Given the description of an element on the screen output the (x, y) to click on. 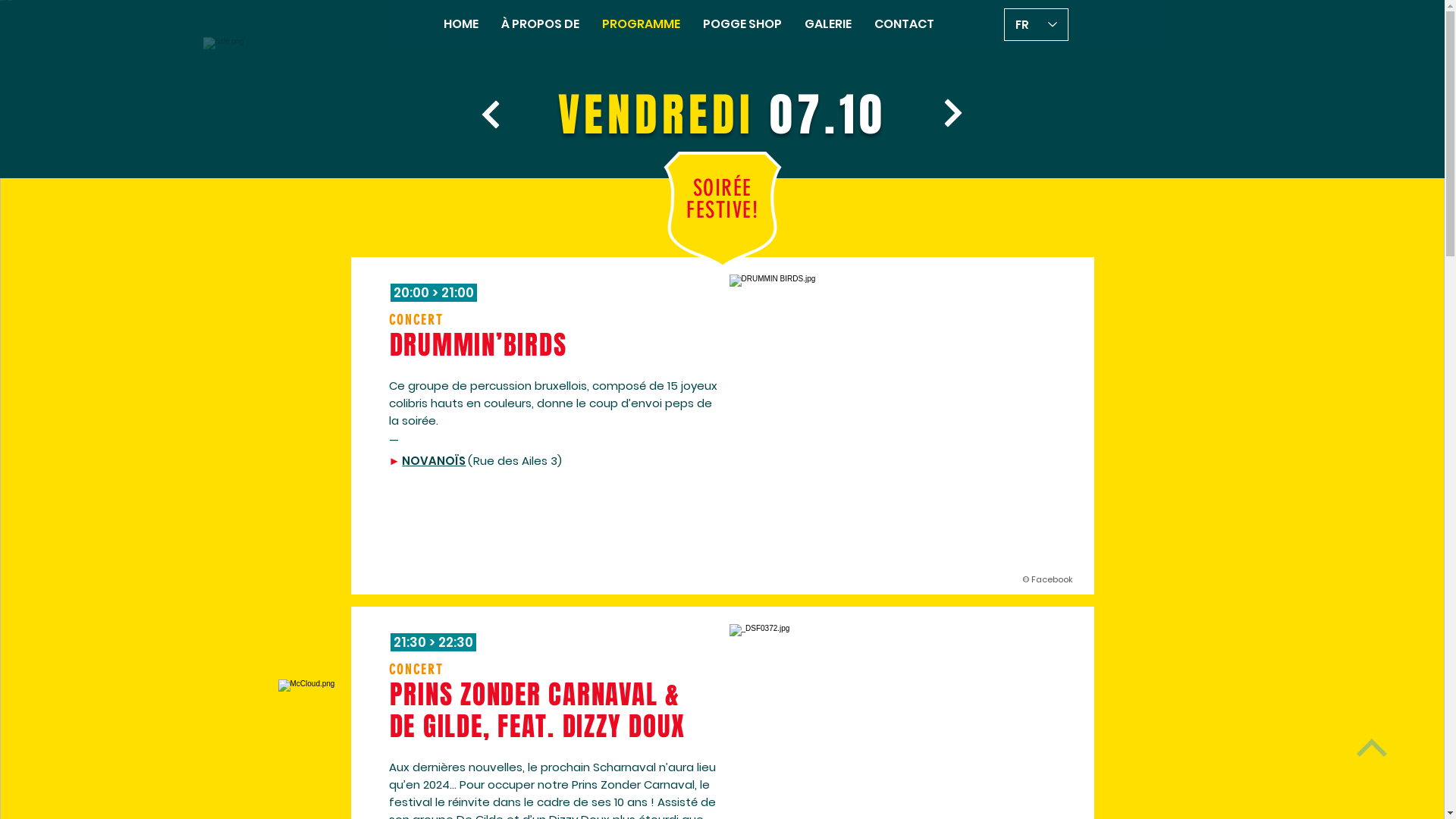
PROGRAMME Element type: text (640, 23)
HOME Element type: text (460, 23)
GALERIE Element type: text (827, 23)
CONTACT Element type: text (903, 23)
POGGE SHOP Element type: text (742, 23)
